Given the description of an element on the screen output the (x, y) to click on. 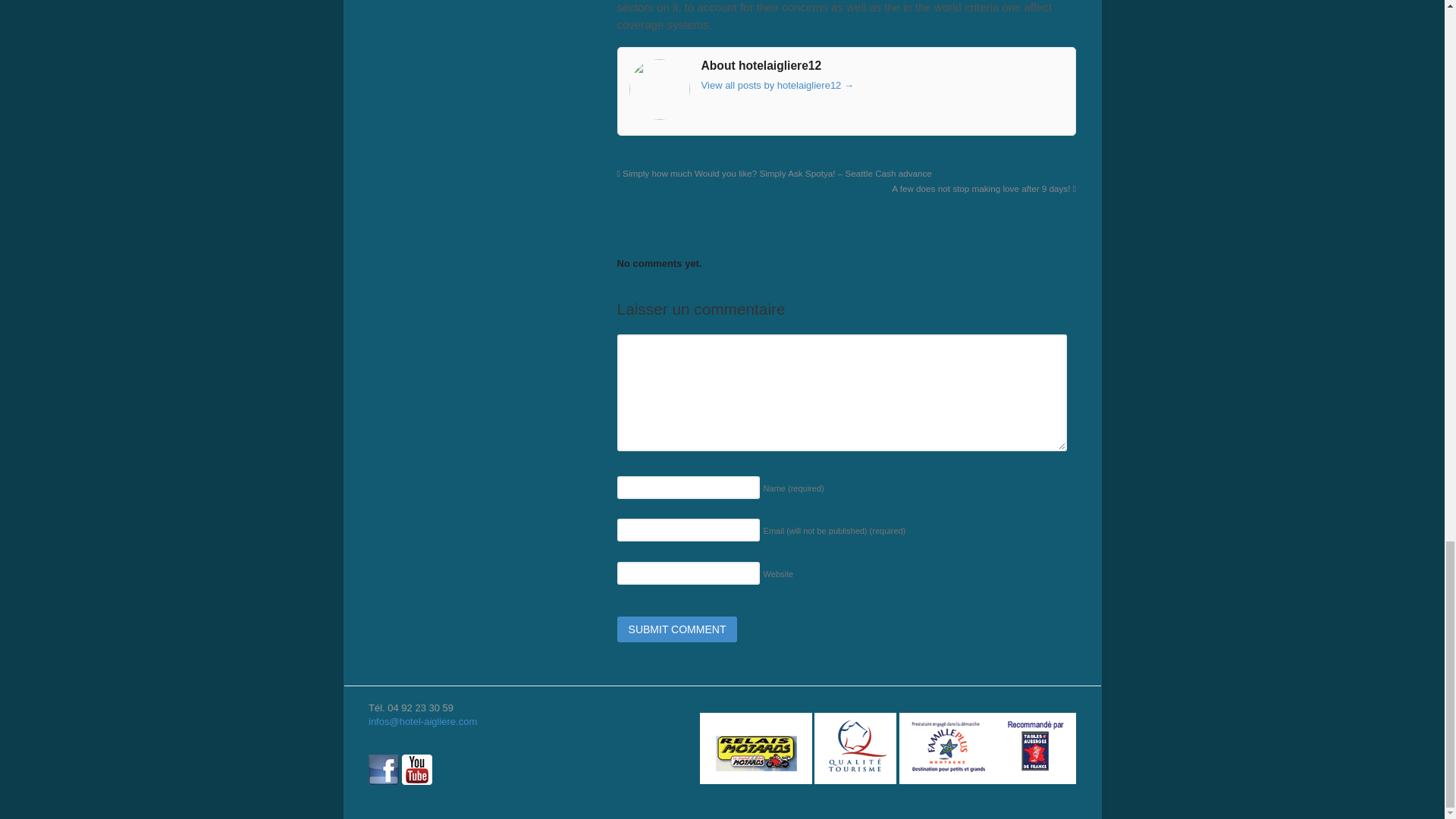
Submit Comment (677, 629)
Submit Comment (677, 629)
A few does not stop making love after 9 days! (983, 188)
